Given the description of an element on the screen output the (x, y) to click on. 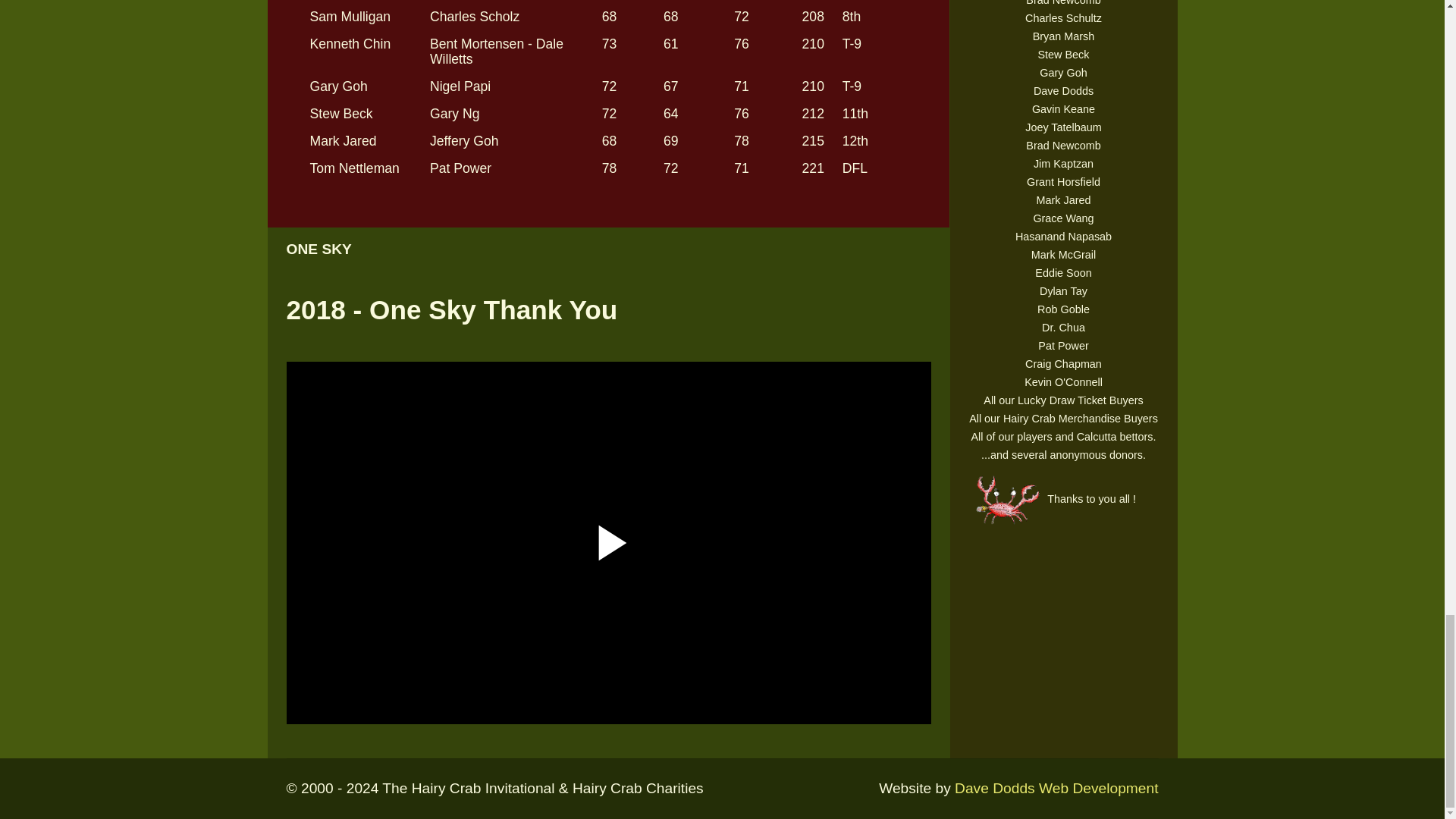
Dave Dodds Web Development (1056, 788)
